Given the description of an element on the screen output the (x, y) to click on. 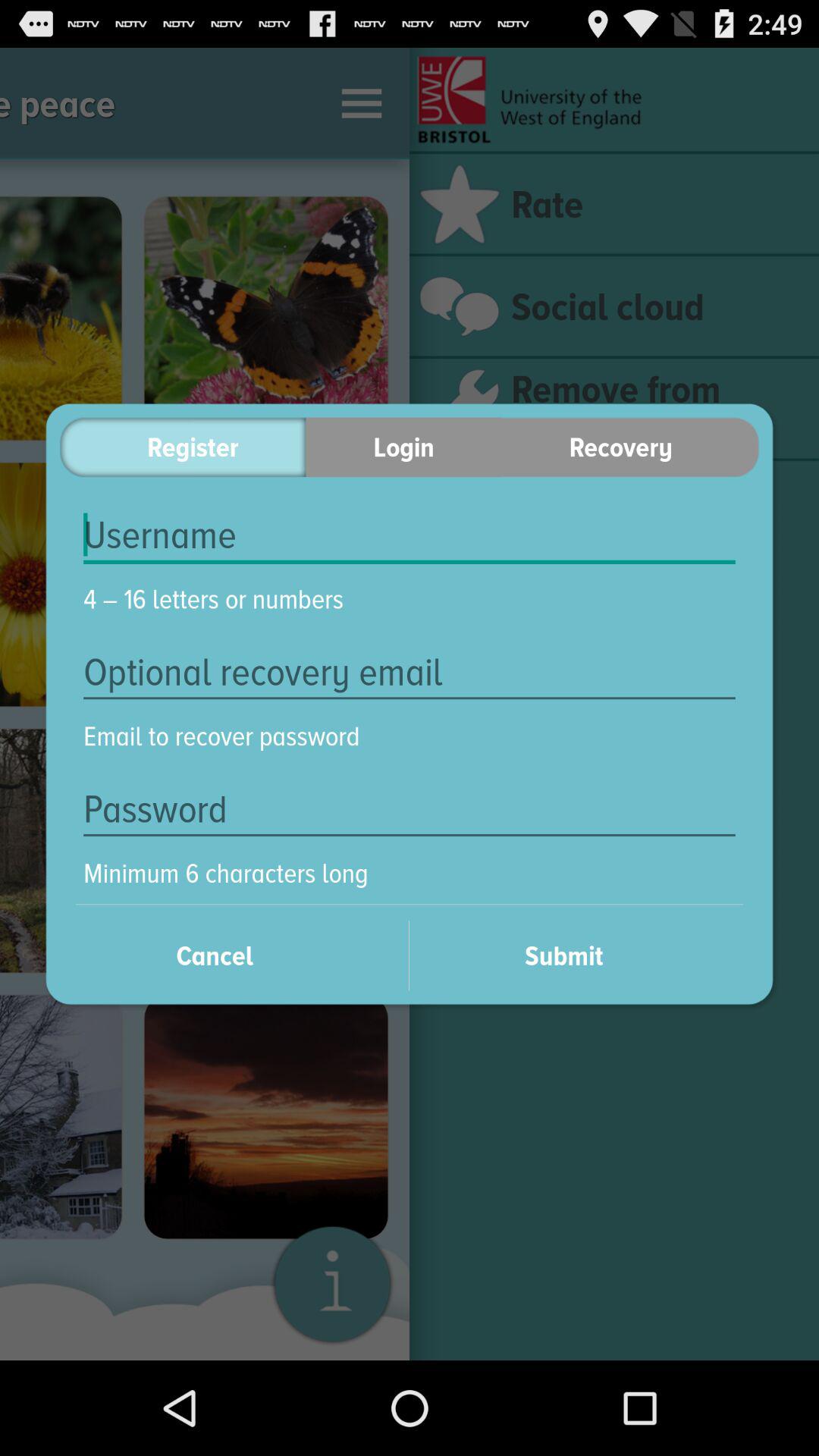
open the icon at the top left corner (182, 447)
